Given the description of an element on the screen output the (x, y) to click on. 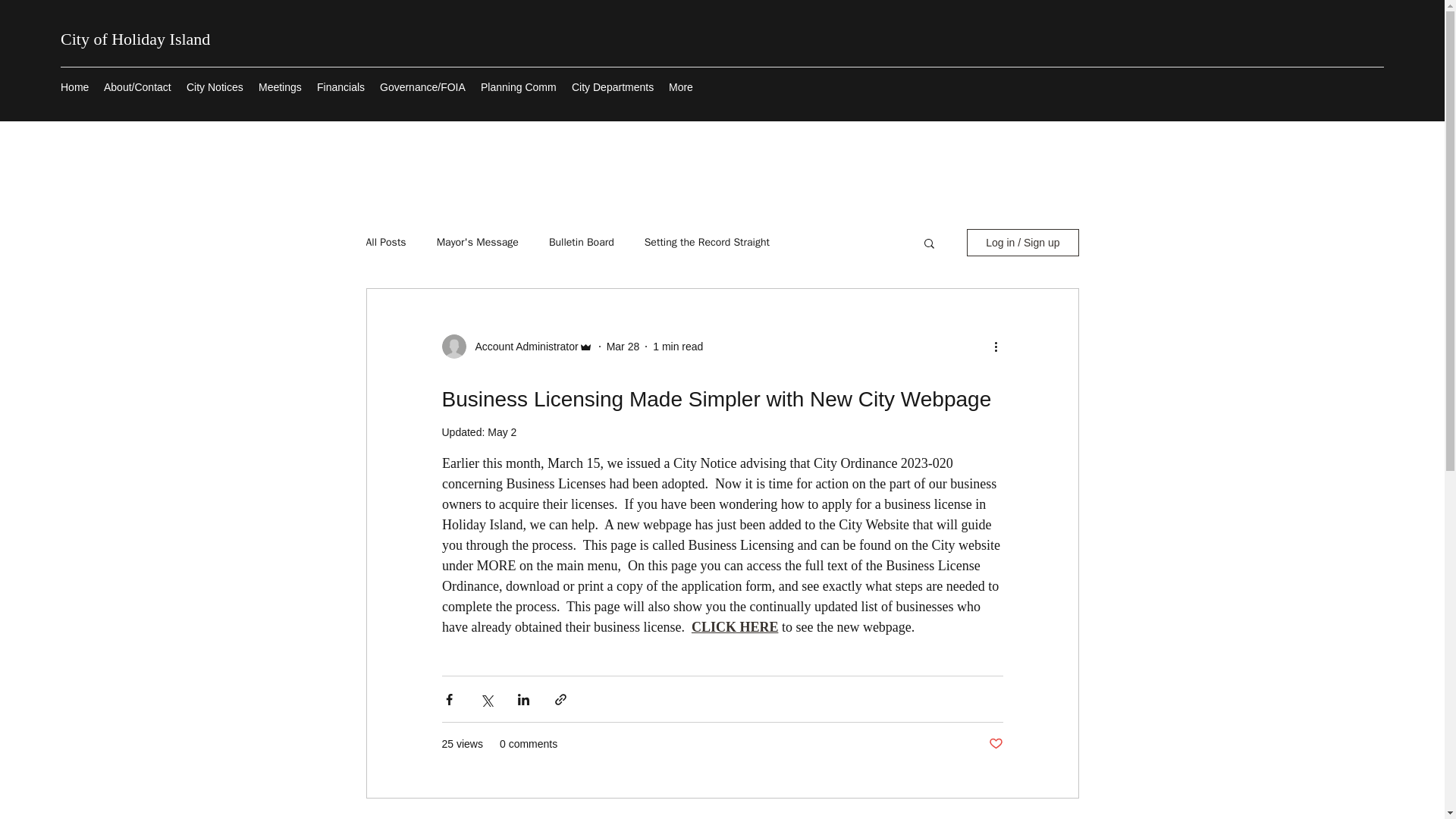
1 min read (677, 345)
CLICK HERE (733, 626)
City of Holiday Island (135, 38)
City Notices (214, 87)
May 2 (501, 431)
Mayor's Message (477, 242)
Mar 28 (623, 345)
Setting the Record Straight (707, 242)
Financials (340, 87)
Meetings (279, 87)
Home (74, 87)
All Posts (385, 242)
Account Administrator (521, 345)
Bulletin Board (581, 242)
